Given the description of an element on the screen output the (x, y) to click on. 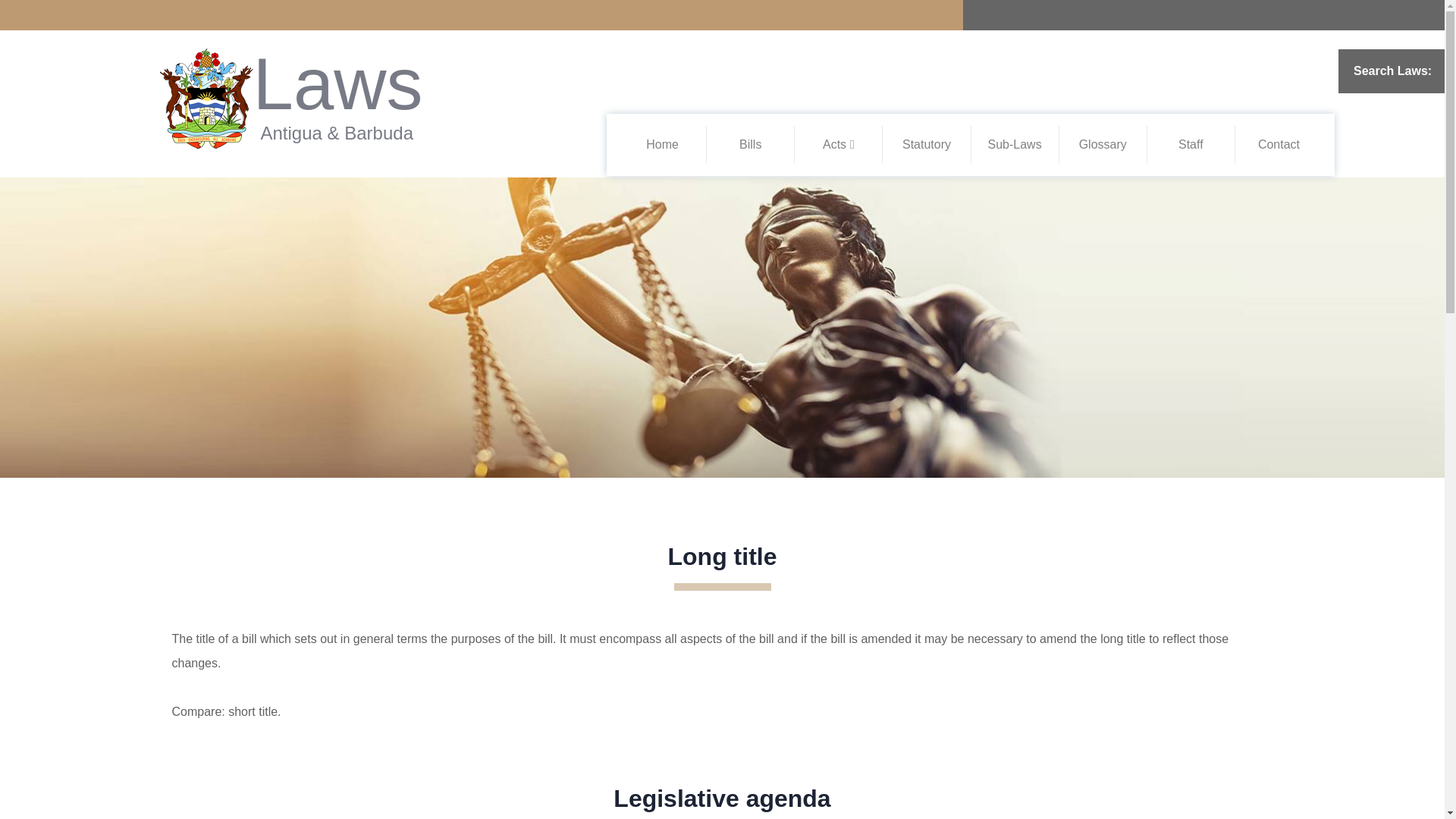
Acts (838, 144)
Glossary (1102, 144)
Home (662, 144)
Bills (750, 144)
Statutory (926, 144)
Sub-Laws (1014, 144)
Staff (1190, 144)
Contact (1278, 144)
